Given the description of an element on the screen output the (x, y) to click on. 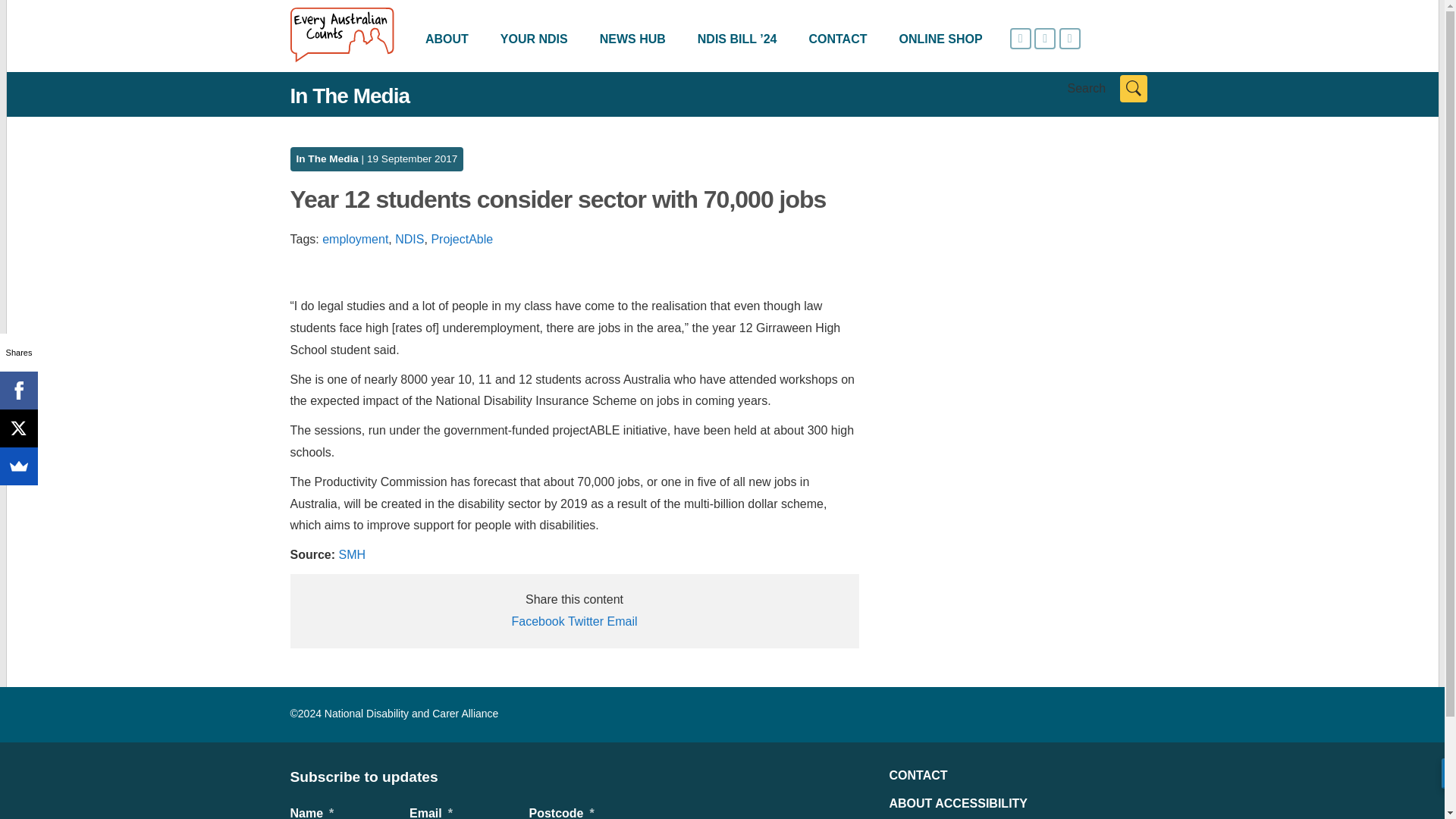
employment (354, 238)
Share via Facebook (537, 621)
YOUR NDIS (534, 39)
In The Media (326, 158)
Search (1133, 88)
Share via Twitter (585, 621)
SumoMe (18, 466)
X (18, 428)
NDIS (408, 238)
Facebook (18, 390)
Twitter (585, 621)
SMH (352, 554)
CONTACT (837, 39)
ONLINE SHOP (940, 39)
NEWS HUB (632, 39)
